Given the description of an element on the screen output the (x, y) to click on. 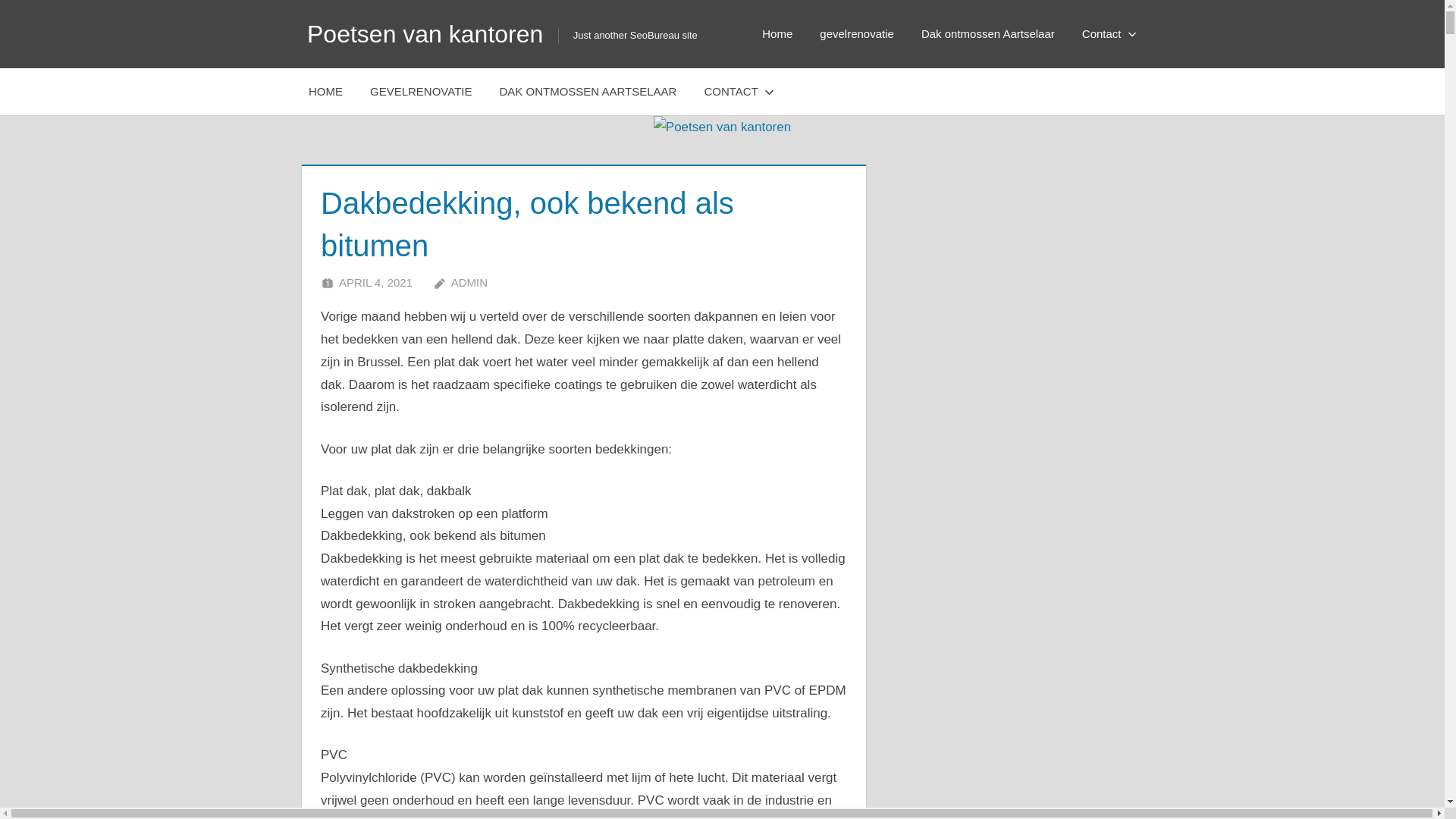
APRIL 4, 2021 Element type: text (375, 282)
Contact Element type: text (1106, 33)
Poetsen van kantoren Element type: text (424, 33)
ADMIN Element type: text (469, 282)
HOME Element type: text (325, 91)
Dak ontmossen Aartselaar Element type: text (987, 33)
gevelrenovatie Element type: text (856, 33)
Doorgaan naar inhoud Element type: text (0, 0)
GEVELRENOVATIE Element type: text (420, 91)
DAK ONTMOSSEN AARTSELAAR Element type: text (587, 91)
CONTACT Element type: text (735, 91)
Home Element type: text (777, 33)
